Given the description of an element on the screen output the (x, y) to click on. 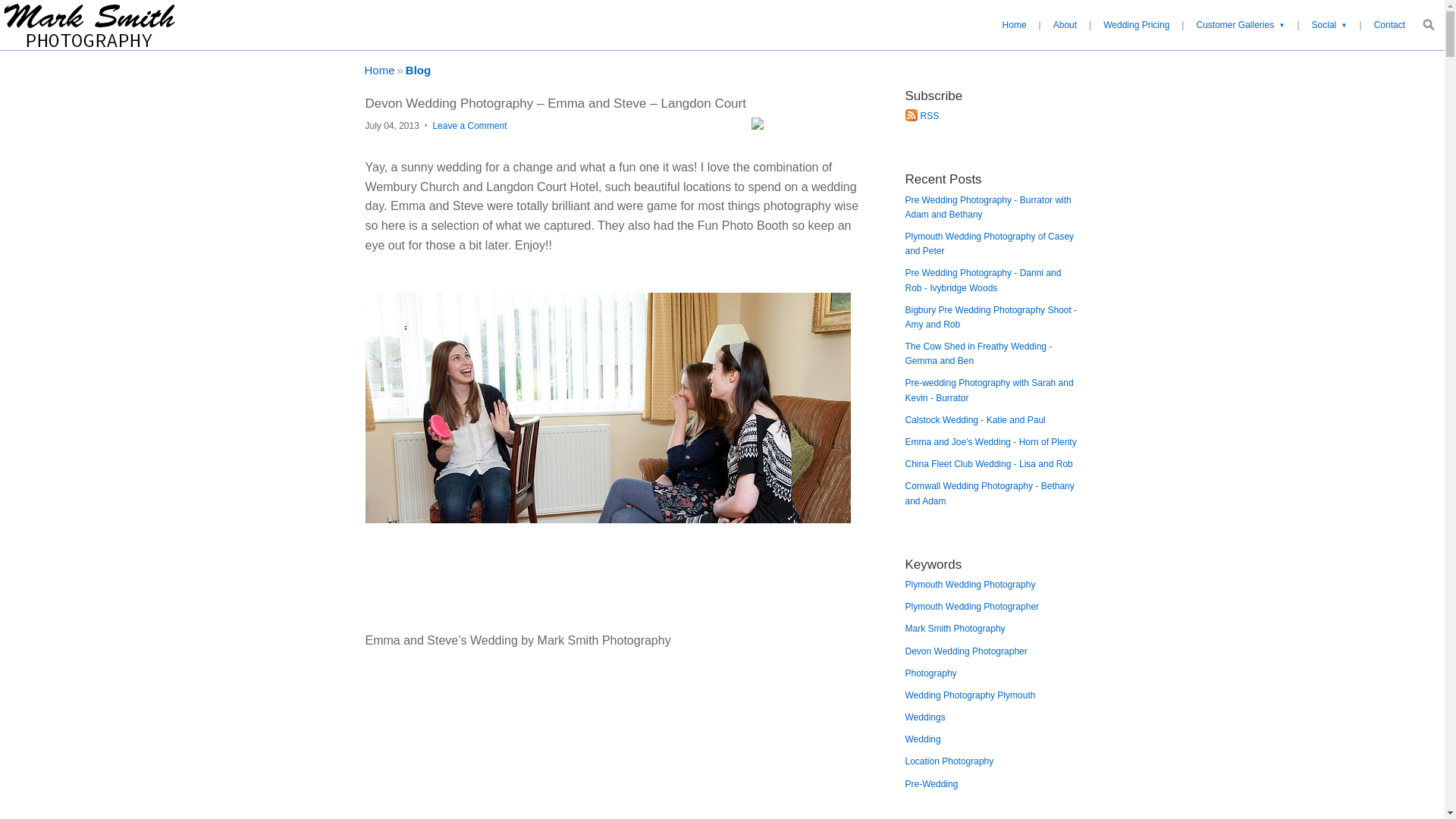
Home (379, 69)
Mark Smith Photography (379, 69)
About (1064, 24)
Mark Smith Photography (88, 24)
Leave a Comment (469, 125)
Contact (1389, 24)
Blog (418, 69)
Wedding Pricing (1135, 24)
Home (1013, 24)
